Given the description of an element on the screen output the (x, y) to click on. 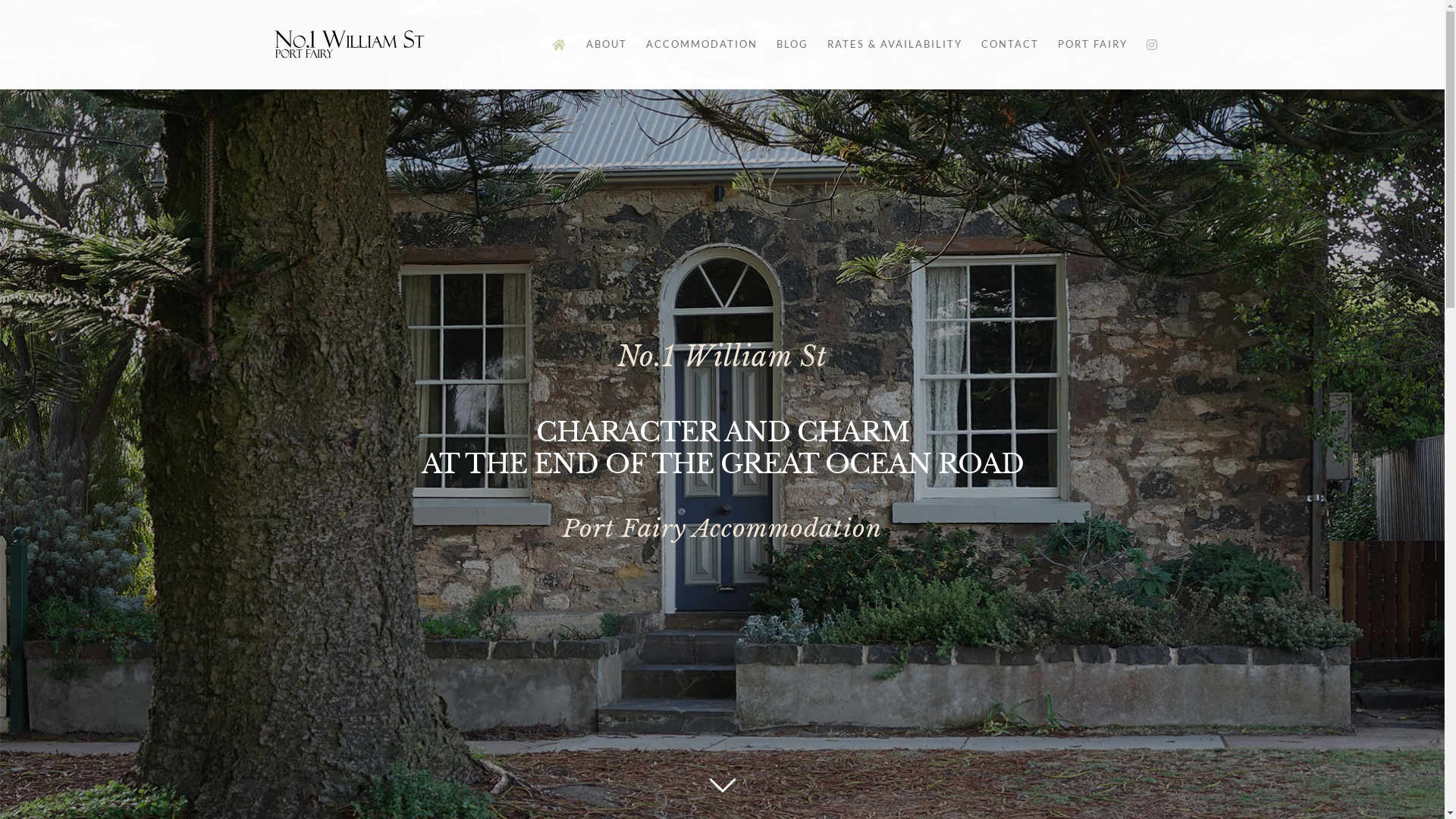
PORT FAIRY Element type: text (1091, 44)
RATES & AVAILABILITY Element type: text (893, 44)
ACCOMMODATION Element type: text (701, 44)
BLOG Element type: text (792, 44)
ABOUT Element type: text (605, 44)
CONTACT Element type: text (1009, 44)
